Given the description of an element on the screen output the (x, y) to click on. 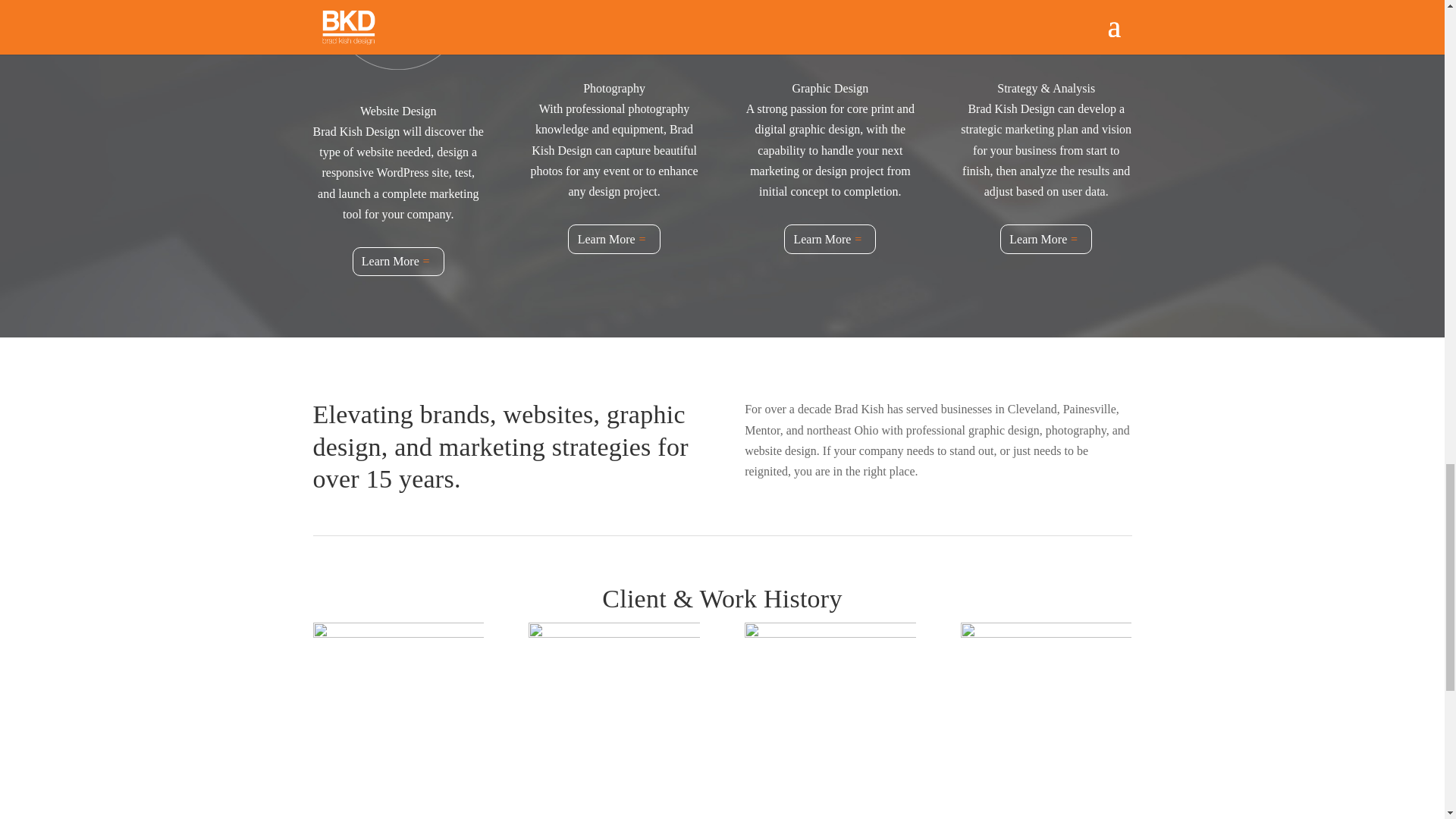
Learn More (1046, 238)
Learn More (613, 238)
Learn More (398, 261)
Learn More (830, 238)
